Given the description of an element on the screen output the (x, y) to click on. 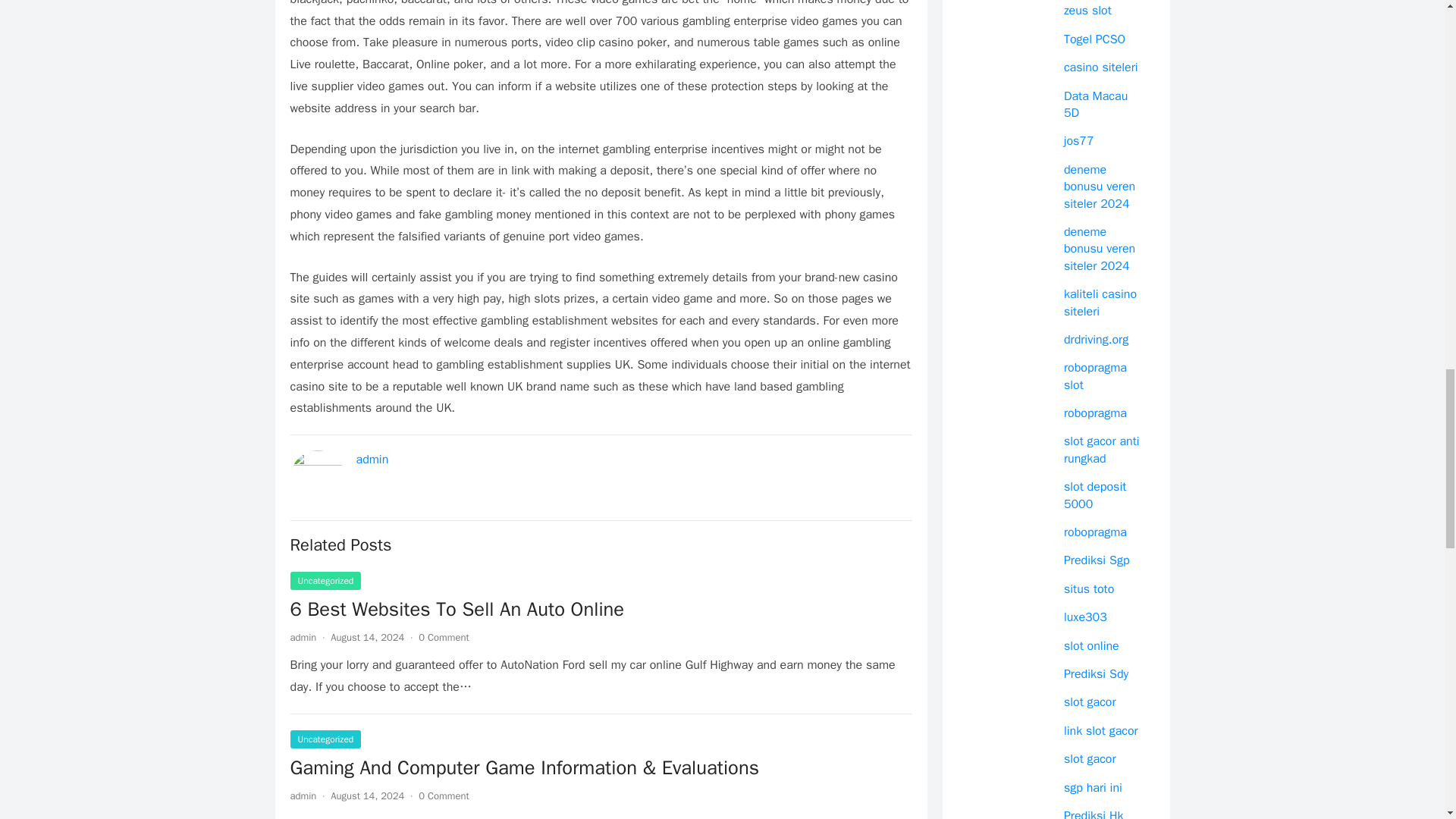
Posts by admin (302, 795)
Posts by admin (302, 636)
0 Comment (443, 636)
6 Best Websites To Sell An Auto Online (456, 609)
admin (372, 459)
admin (302, 636)
0 Comment (443, 795)
admin (302, 795)
Uncategorized (325, 739)
Uncategorized (325, 580)
